Given the description of an element on the screen output the (x, y) to click on. 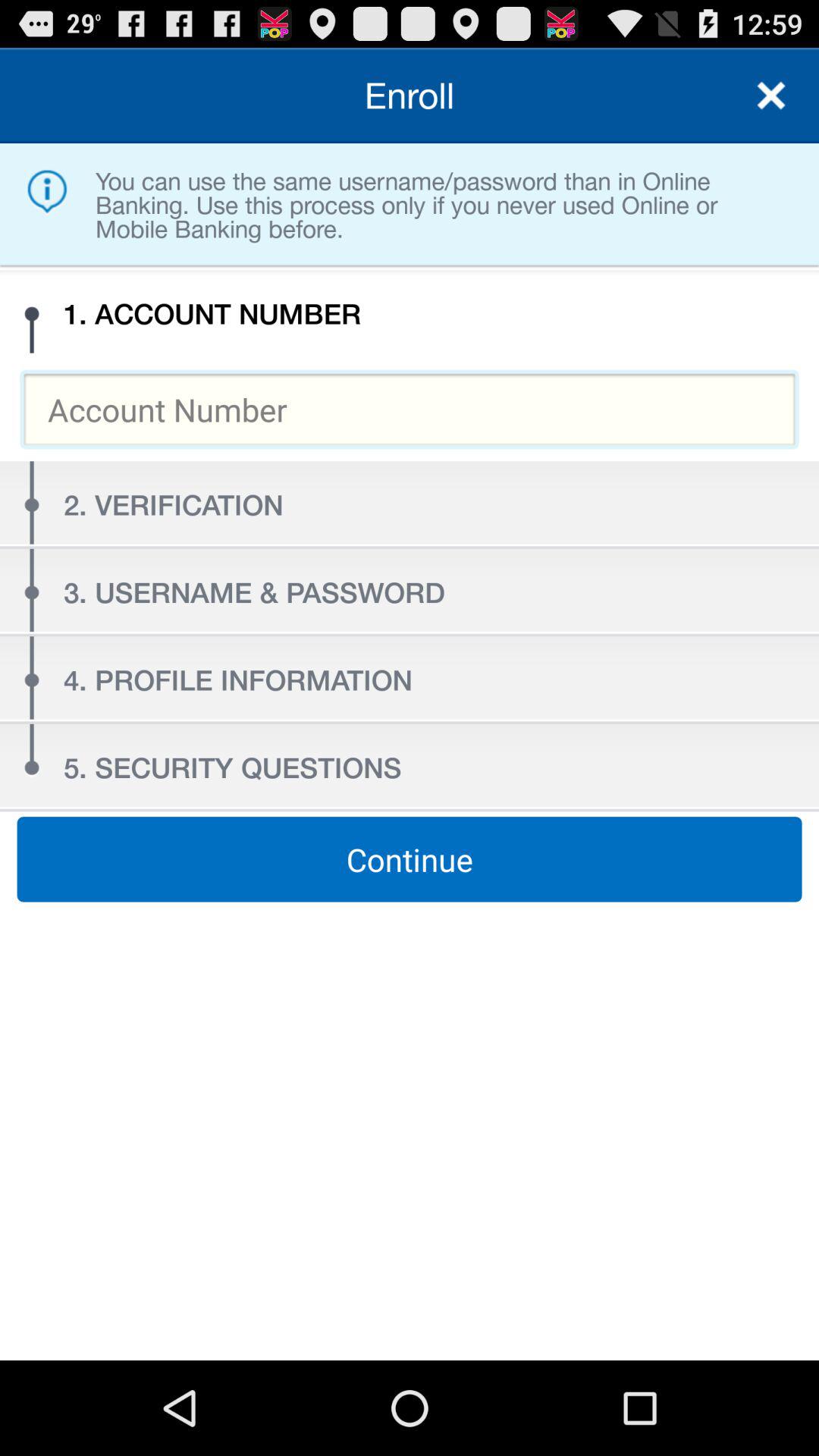
turn off item below the 1. account number (409, 409)
